Given the description of an element on the screen output the (x, y) to click on. 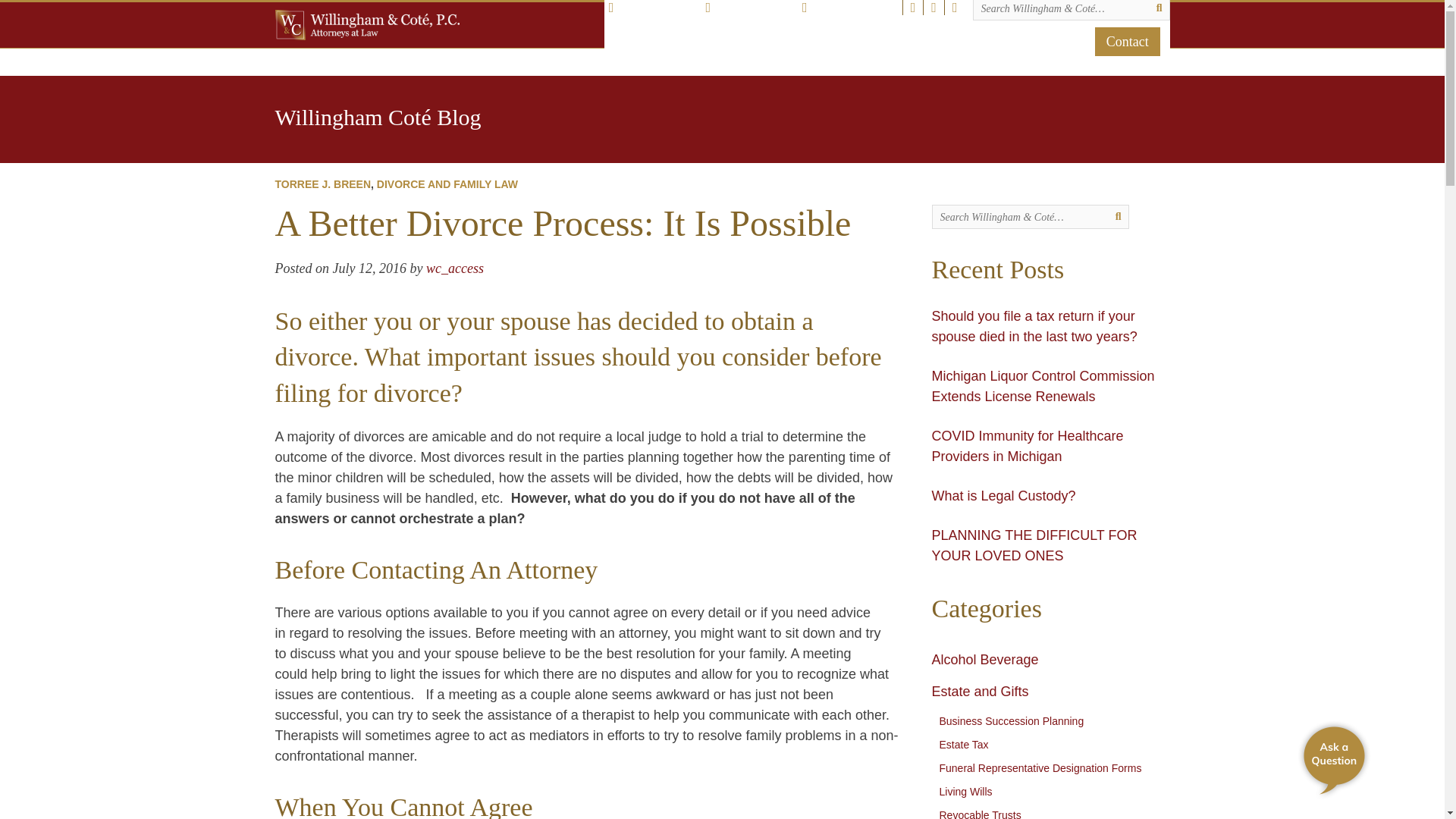
search (1159, 9)
Home (632, 41)
search (1029, 216)
Practice Areas (841, 40)
Traverse City (749, 7)
517.351.6200 (848, 7)
In the Community (722, 41)
search (1118, 215)
East Lansing (652, 7)
search (1070, 9)
